Given the description of an element on the screen output the (x, y) to click on. 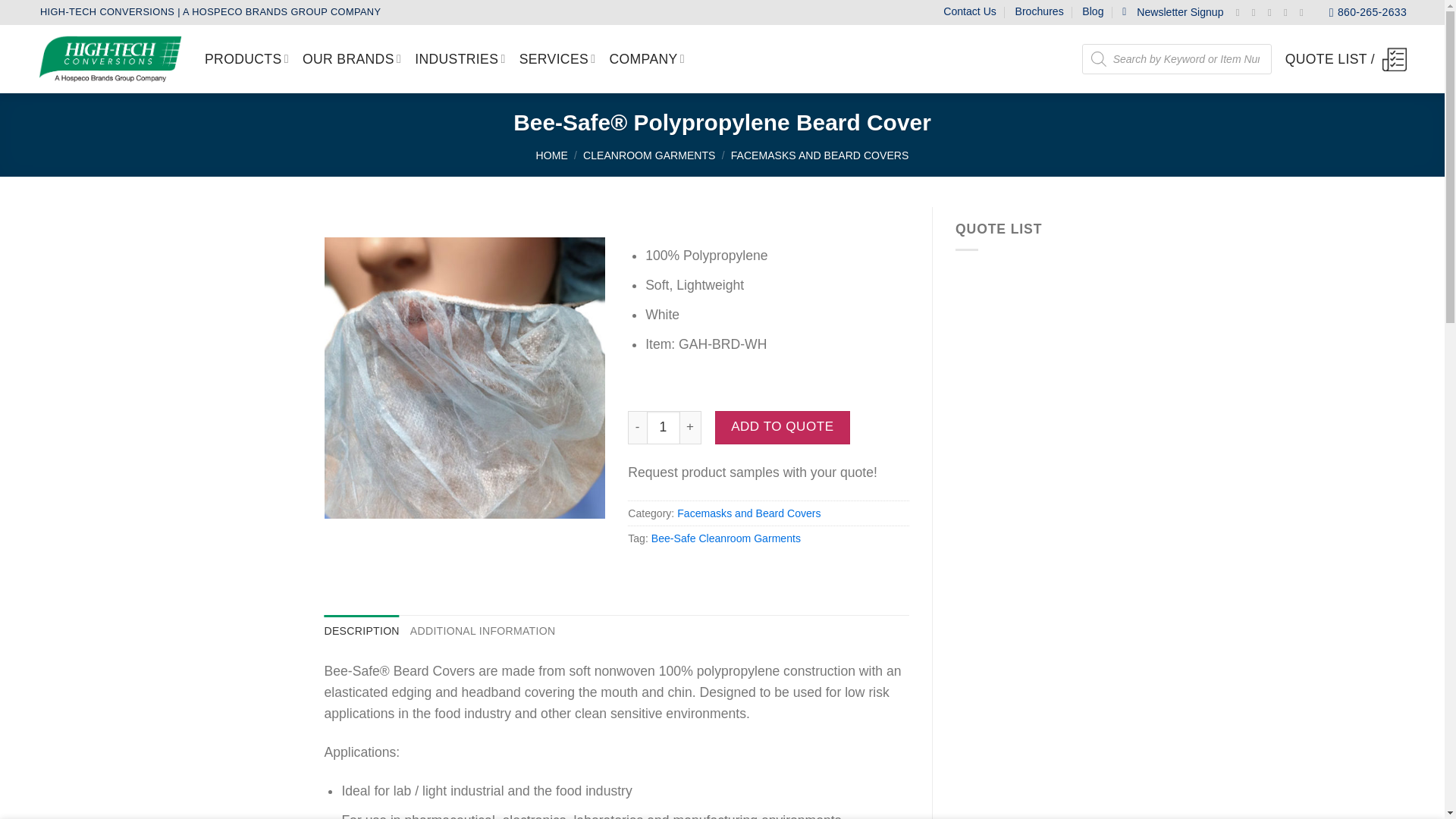
860-265-2633 (1367, 12)
Blog (1092, 11)
Zoom (349, 495)
Brochures (1039, 11)
Quote List (1345, 58)
High-Tech Conversions - Manufacturer of Cleanroom Supplies (109, 58)
Contact Us (969, 11)
860-265-2633 (1367, 12)
PRODUCTS (246, 58)
Sign up for Newsletter (1172, 11)
